Given the description of an element on the screen output the (x, y) to click on. 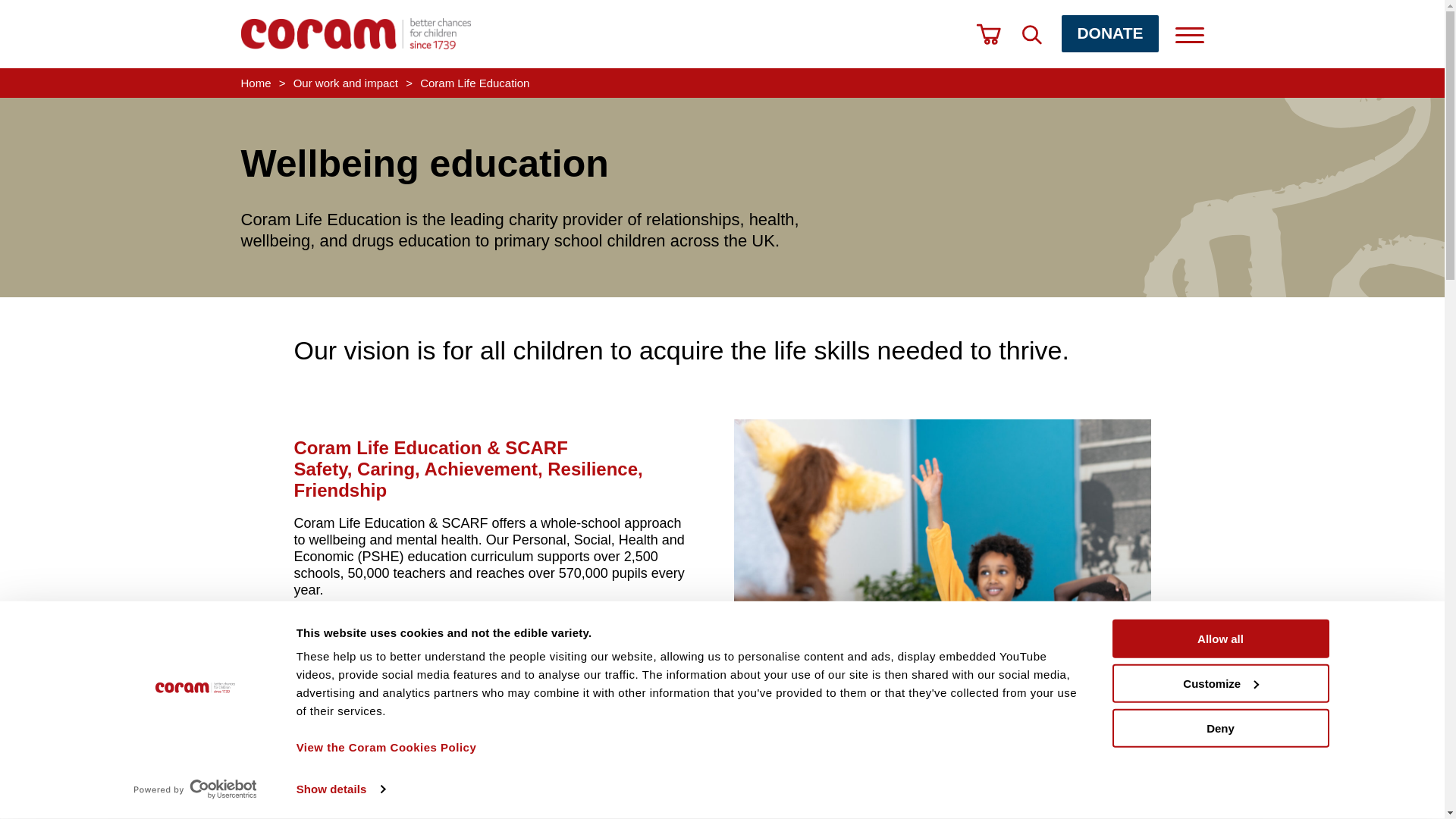
View the Coram Cookies Policy (387, 747)
Show details (340, 789)
